Given the description of an element on the screen output the (x, y) to click on. 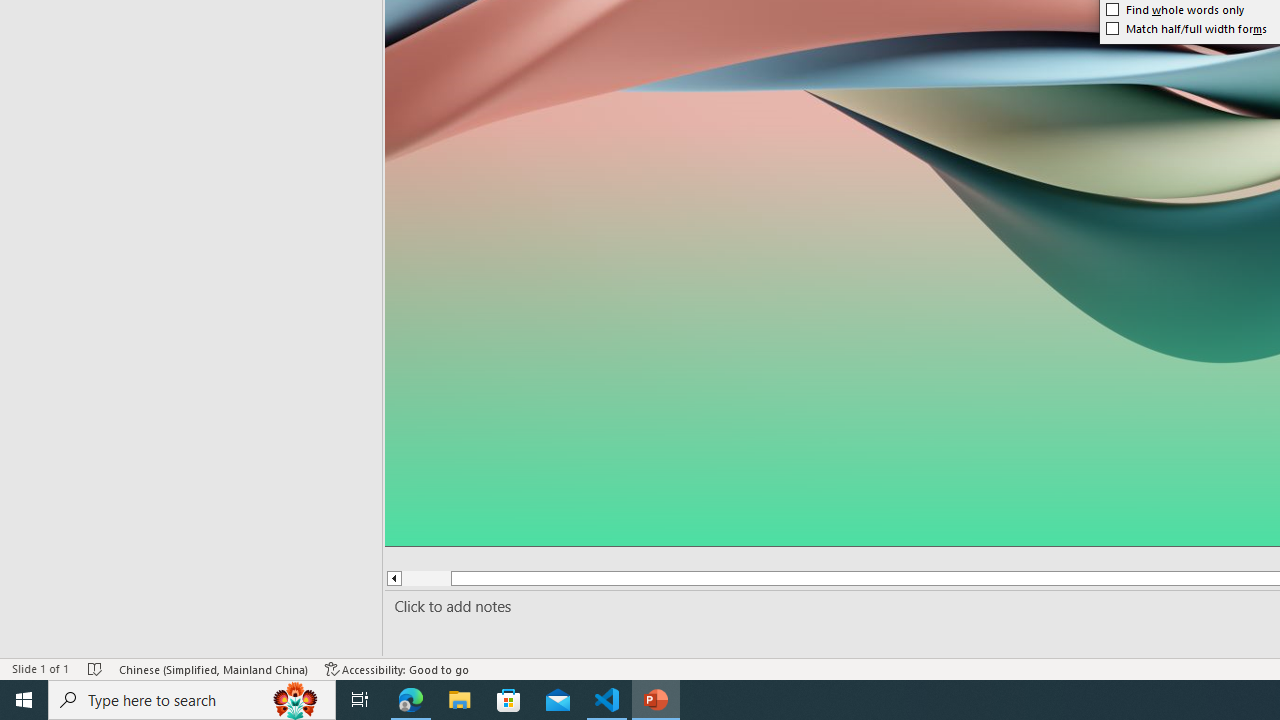
Match half/full width forms (1186, 28)
Search highlights icon opens search home window (295, 699)
Type here to search (191, 699)
Spell Check No Errors (95, 668)
Start (24, 699)
PowerPoint - 1 running window (656, 699)
Page up (425, 578)
Visual Studio Code - 1 running window (607, 699)
Find whole words only (1175, 10)
Accessibility Checker Accessibility: Good to go (397, 668)
File Explorer (460, 699)
Microsoft Store (509, 699)
Microsoft Edge - 1 running window (411, 699)
Task View (359, 699)
